Given the description of an element on the screen output the (x, y) to click on. 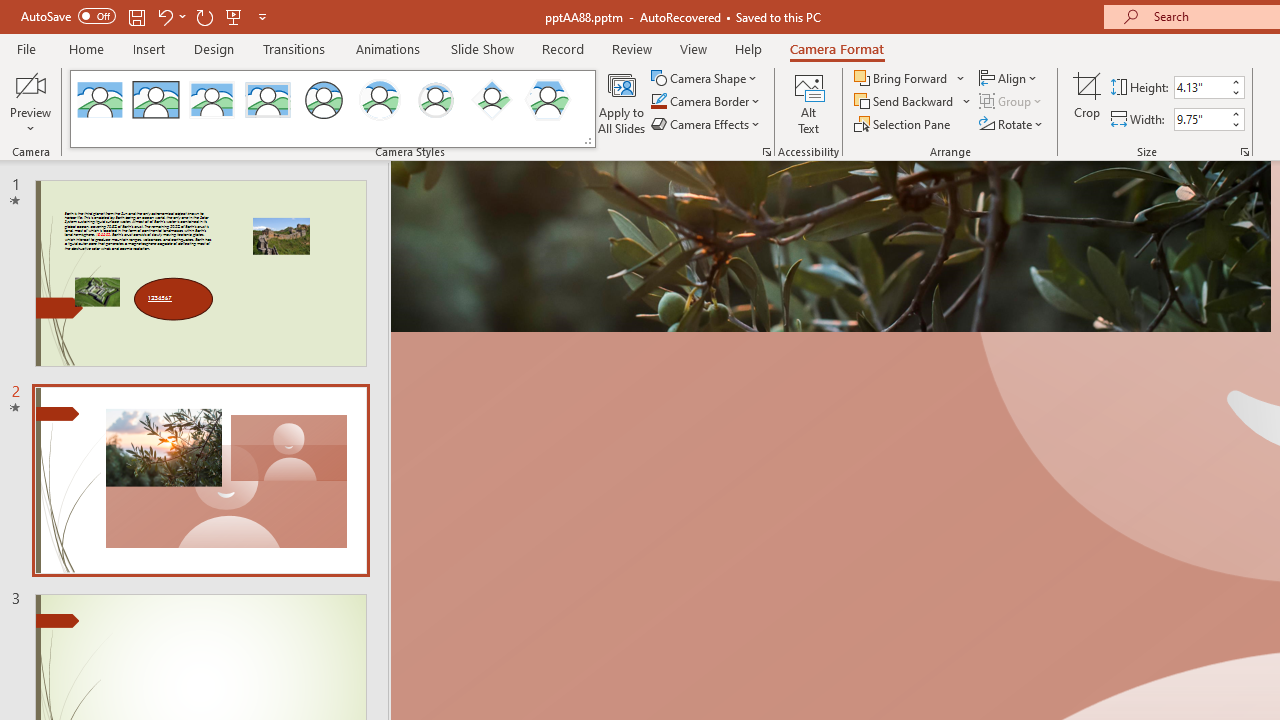
Send Backward (905, 101)
Selection Pane... (904, 124)
Alt Text (808, 102)
More (1235, 113)
